Given the description of an element on the screen output the (x, y) to click on. 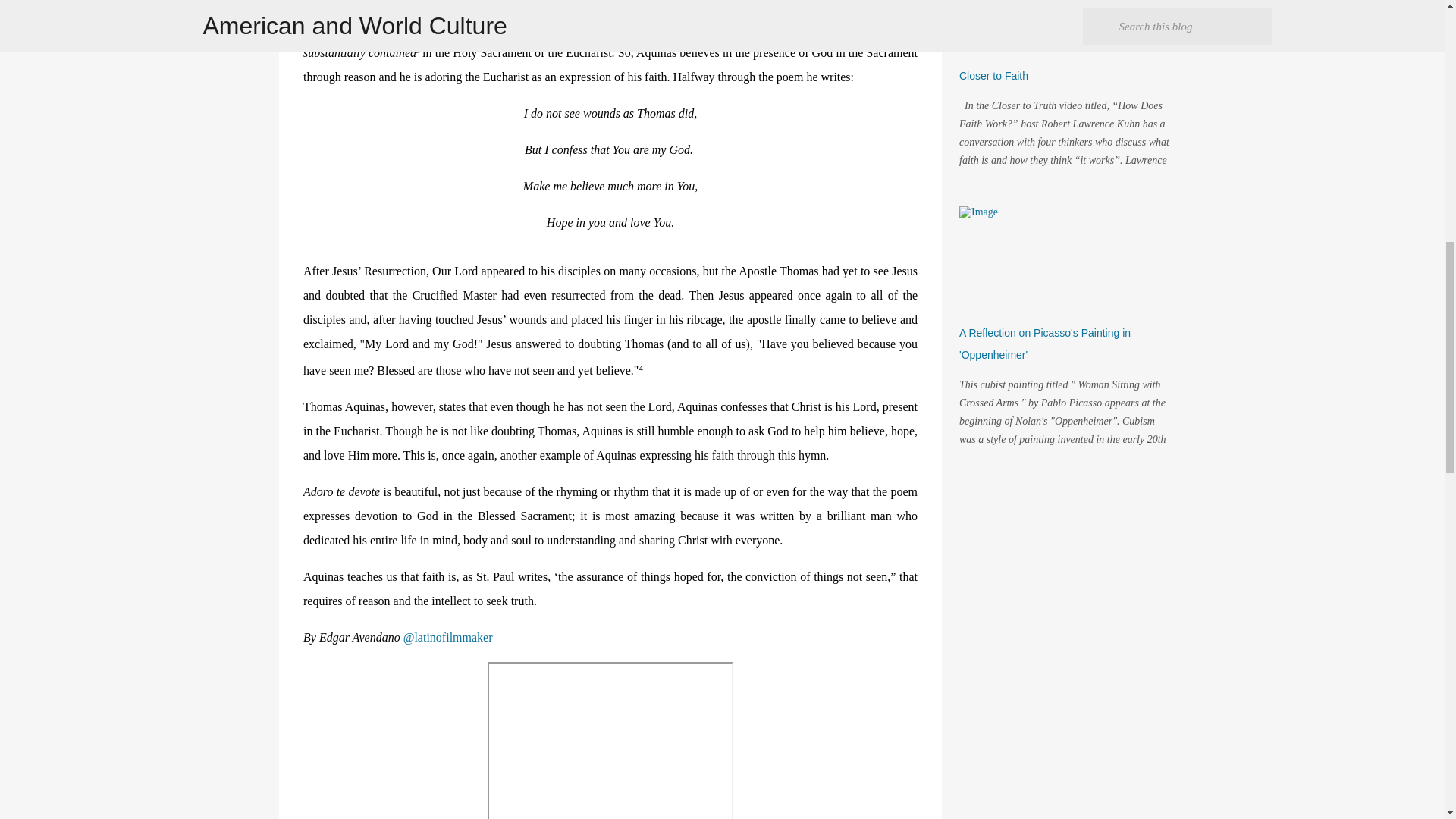
A Reflection on Picasso's Painting in 'Oppenheimer' (1045, 343)
Closer to Faith (993, 75)
